Given the description of an element on the screen output the (x, y) to click on. 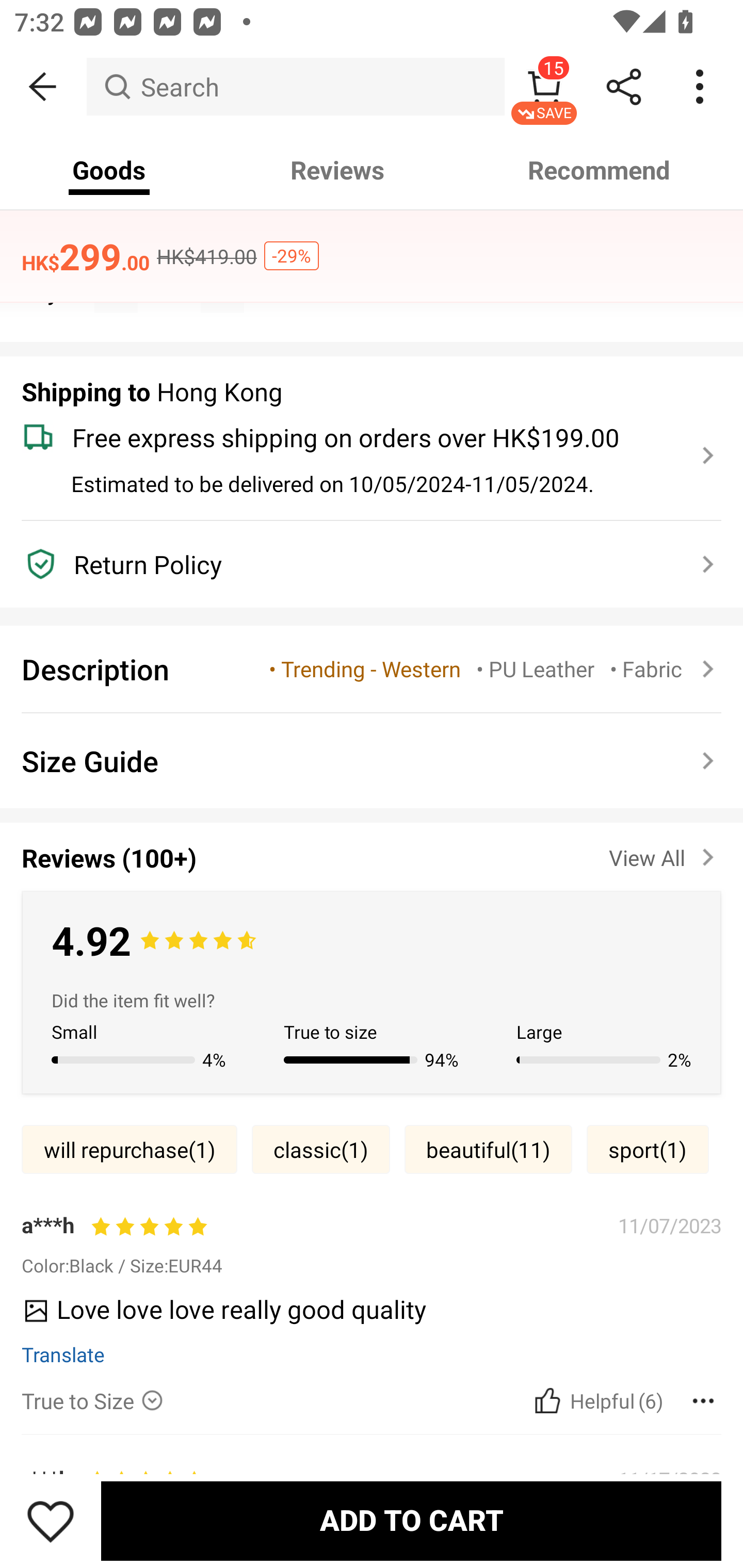
BACK (43, 86)
15 SAVE (543, 87)
Search (295, 87)
Goods (109, 170)
Reviews (337, 170)
Recommend (599, 170)
Qty: 1 (371, 269)
Return Policy (359, 564)
Size Guide (371, 760)
View All (664, 853)
will repurchase(1) (129, 1149)
classic(1) (320, 1149)
beautiful(11) (488, 1149)
sport(1) (647, 1149)
  Love love love really good quality (363, 1316)
Translate (62, 1353)
Cancel Helpful Was this article helpful? (6) (596, 1400)
ADD TO CART (411, 1520)
Save (50, 1520)
